Given the description of an element on the screen output the (x, y) to click on. 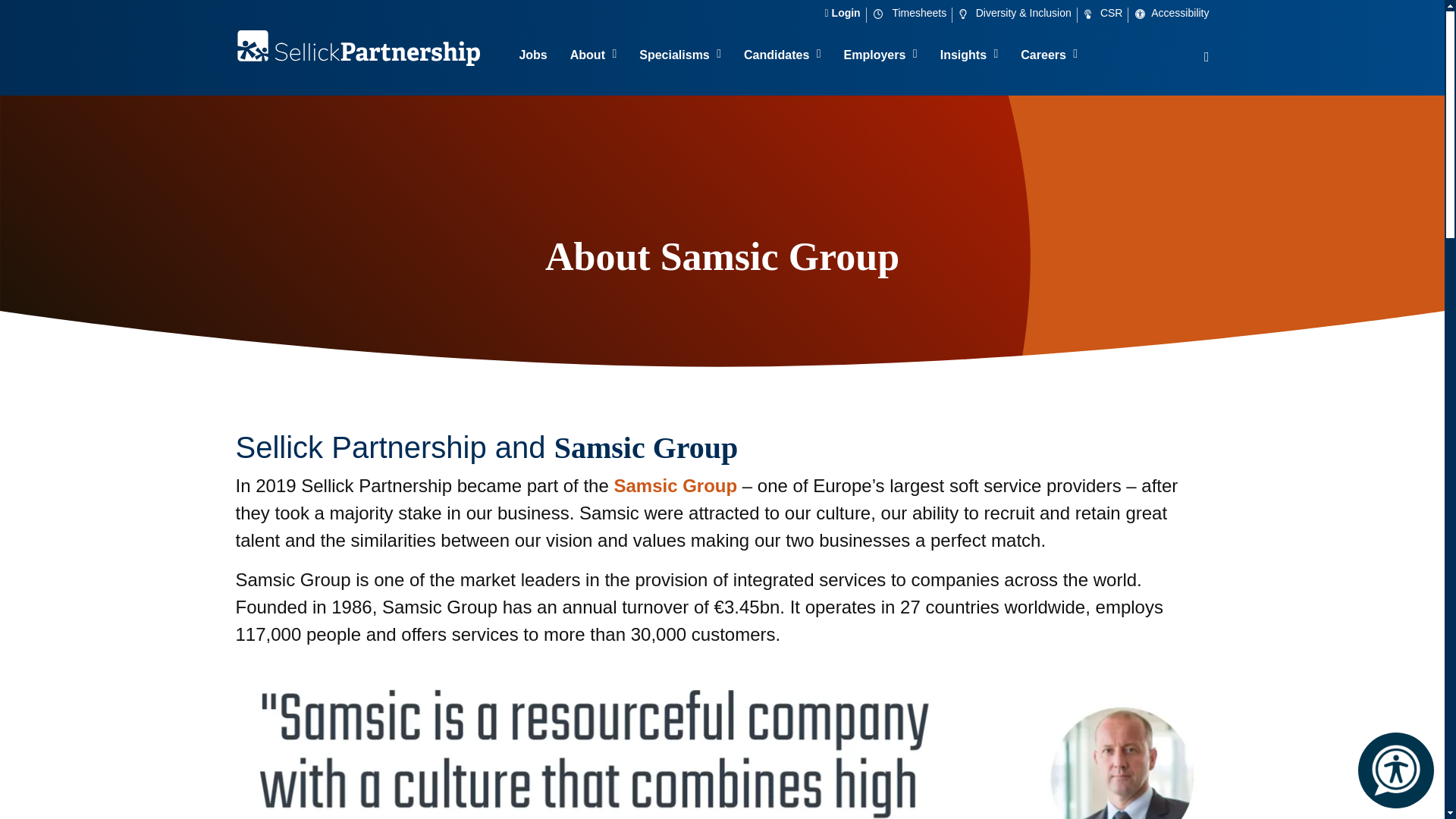
Timesheets (913, 12)
Jobs (531, 57)
CSR (1106, 12)
Launch Recite Me (1396, 769)
Accessibility (1171, 12)
About (593, 57)
Specialisms (679, 57)
Launch Recite Me (1396, 770)
Login (845, 12)
